Given the description of an element on the screen output the (x, y) to click on. 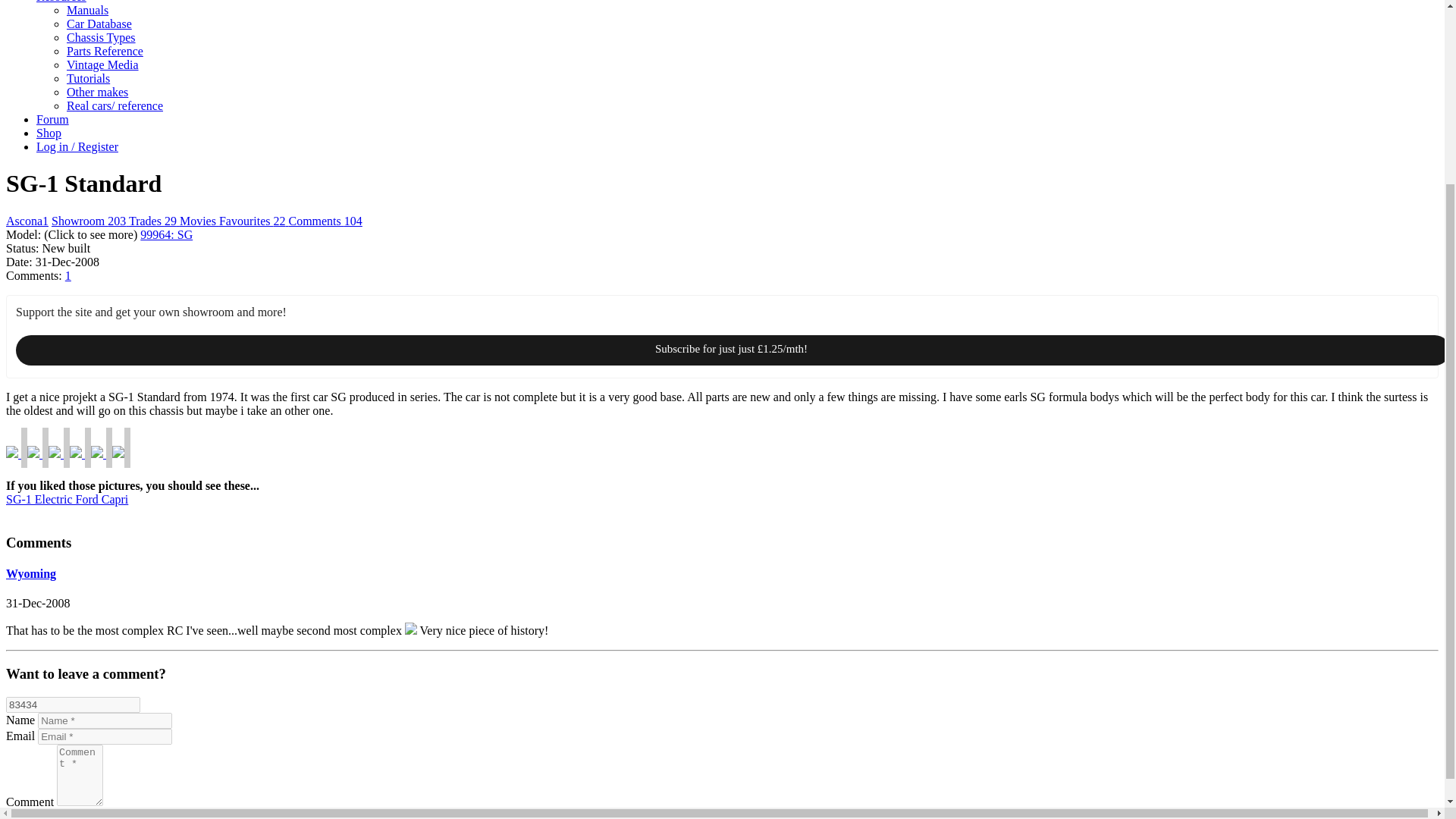
Trades 29 (154, 220)
Shop (48, 132)
Parts Reference (104, 51)
99964: SG (165, 234)
Other makes (97, 91)
Vintage Media (102, 64)
Tutorials (88, 78)
Ascona1 (26, 220)
Favourites 22 (253, 220)
Forum (52, 119)
